Given the description of an element on the screen output the (x, y) to click on. 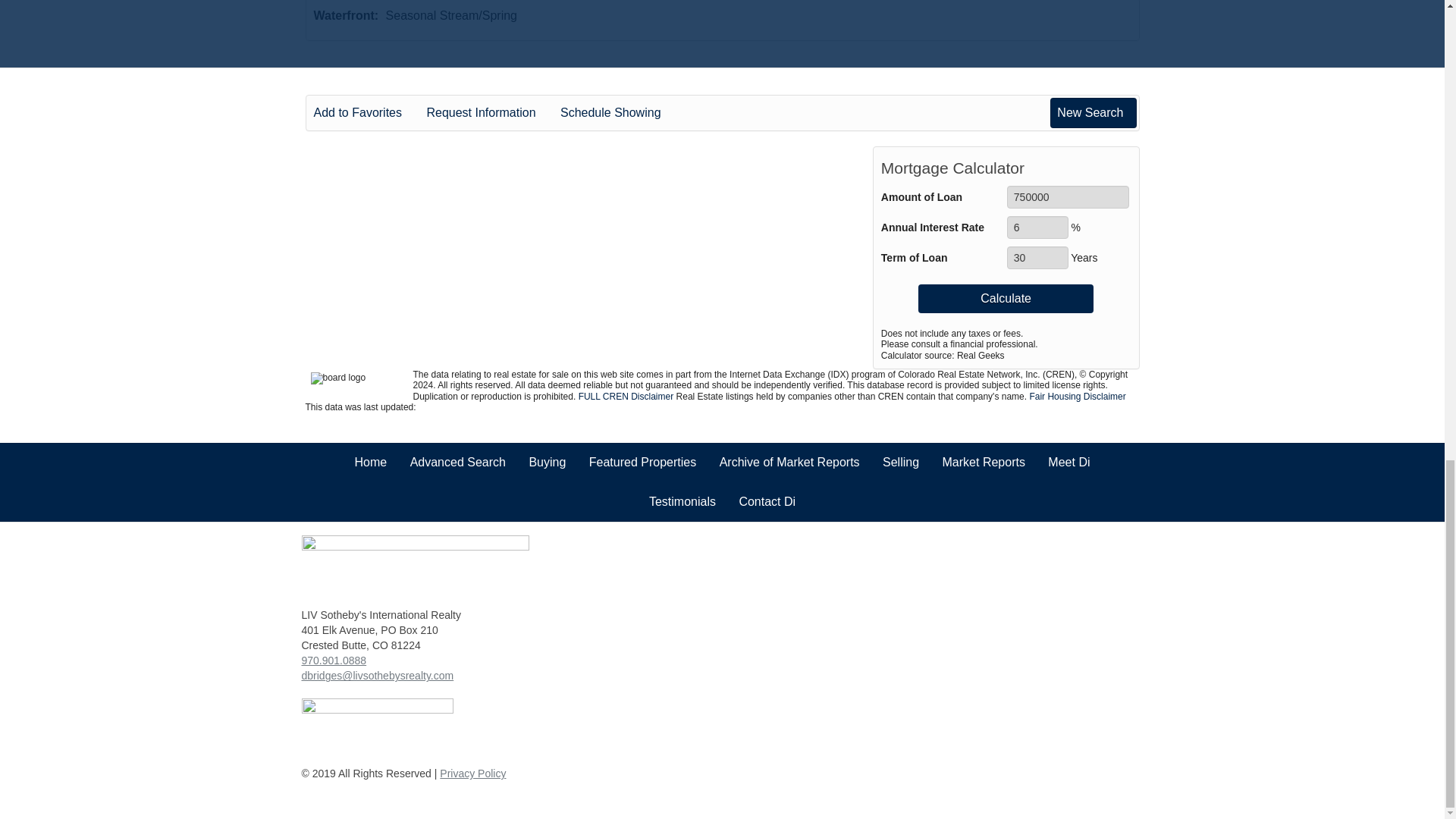
6 (1037, 227)
30 (1037, 257)
750000 (1068, 196)
